Given the description of an element on the screen output the (x, y) to click on. 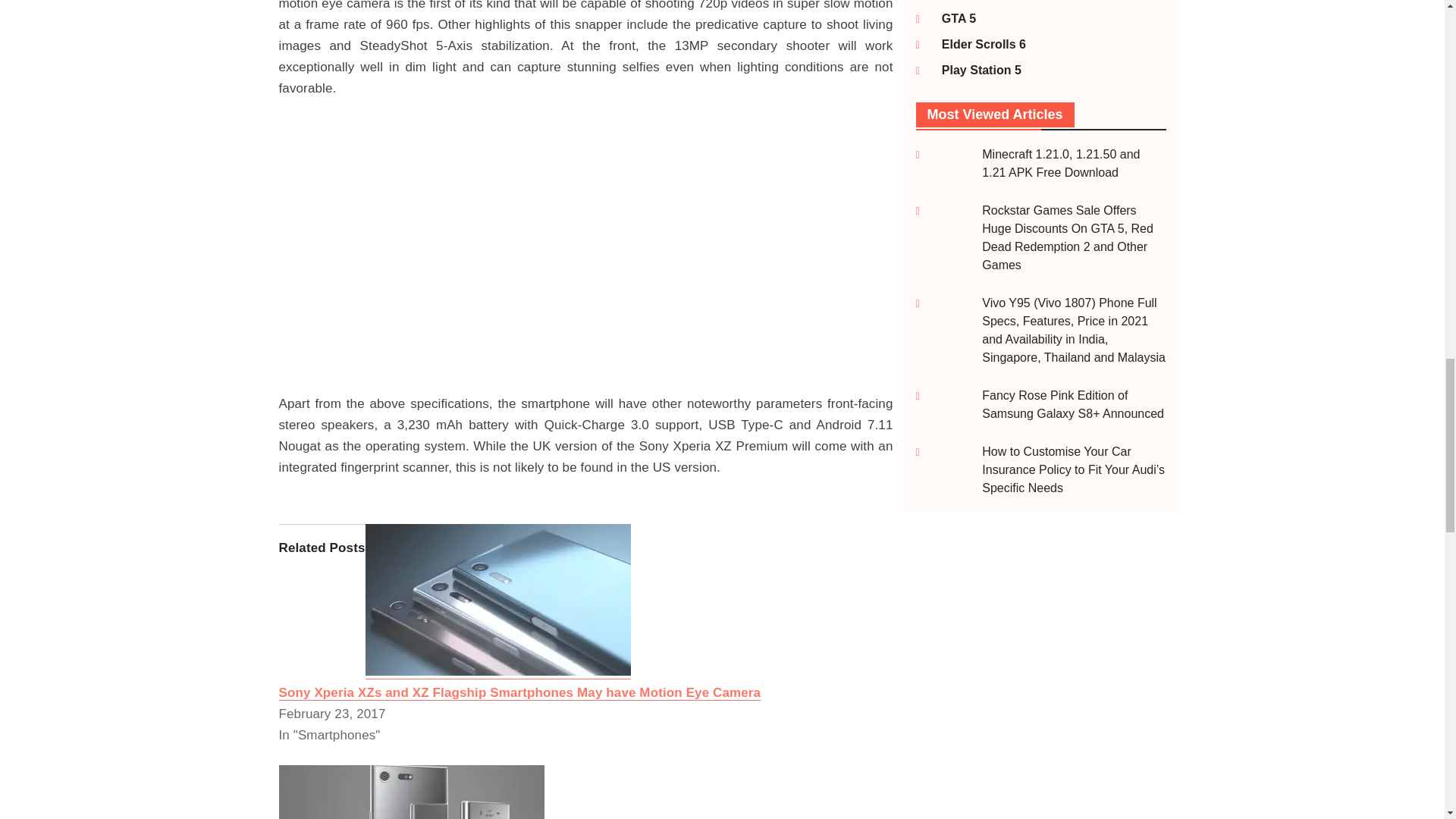
Minecraft 1.21.0, 1.21.50 and 1.21 APK Free Download (1060, 163)
